Given the description of an element on the screen output the (x, y) to click on. 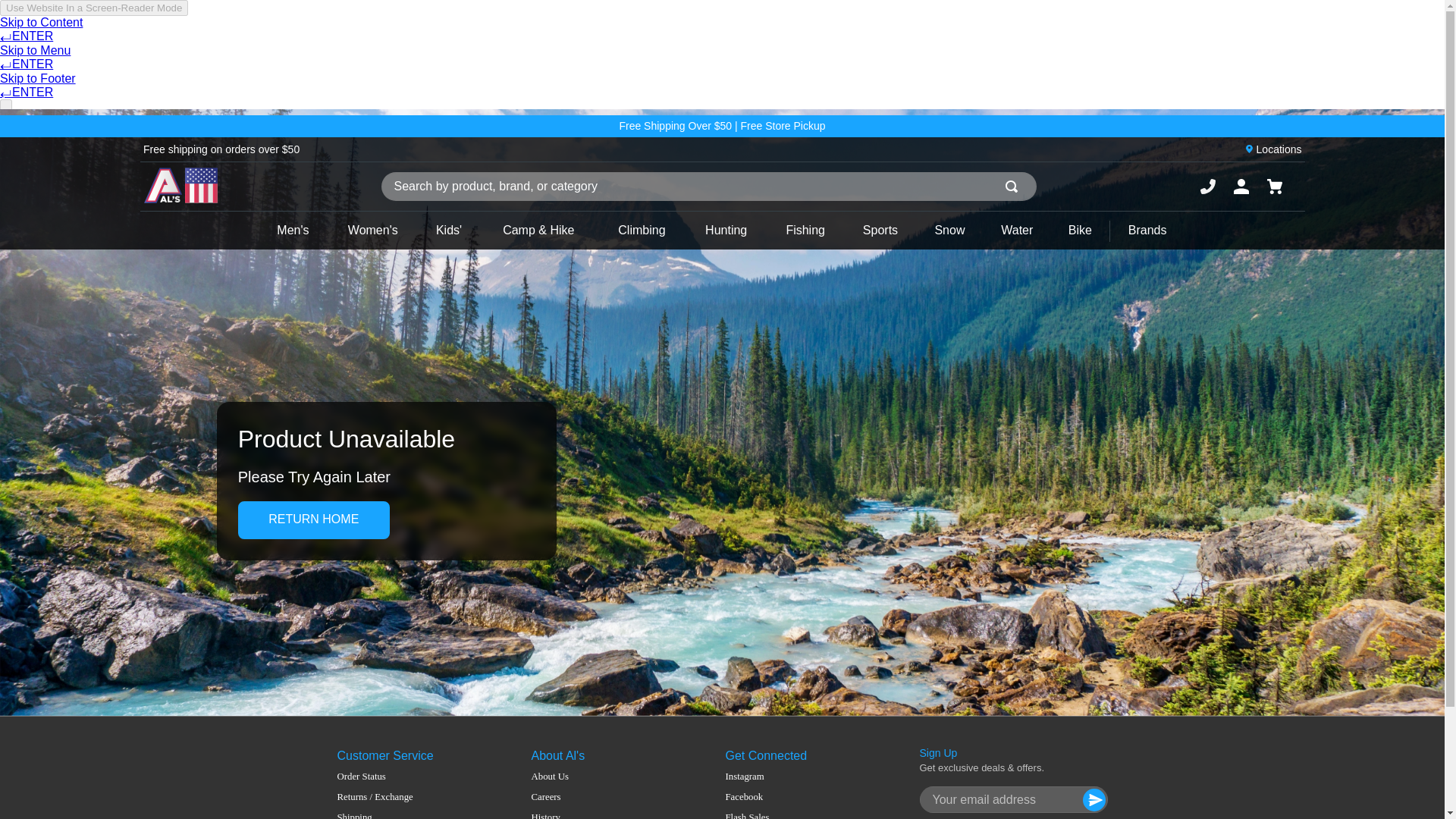
Locations (1278, 149)
Shipping (374, 815)
Women's (372, 230)
Brands (1146, 230)
About Us (570, 776)
Facebook (746, 797)
Water (1017, 230)
Instagram (746, 776)
History (570, 815)
Snow (949, 230)
Sports (880, 230)
Brands (1146, 230)
Hunting (726, 230)
Flash Sales (746, 815)
RETURN HOME (314, 518)
